Given the description of an element on the screen output the (x, y) to click on. 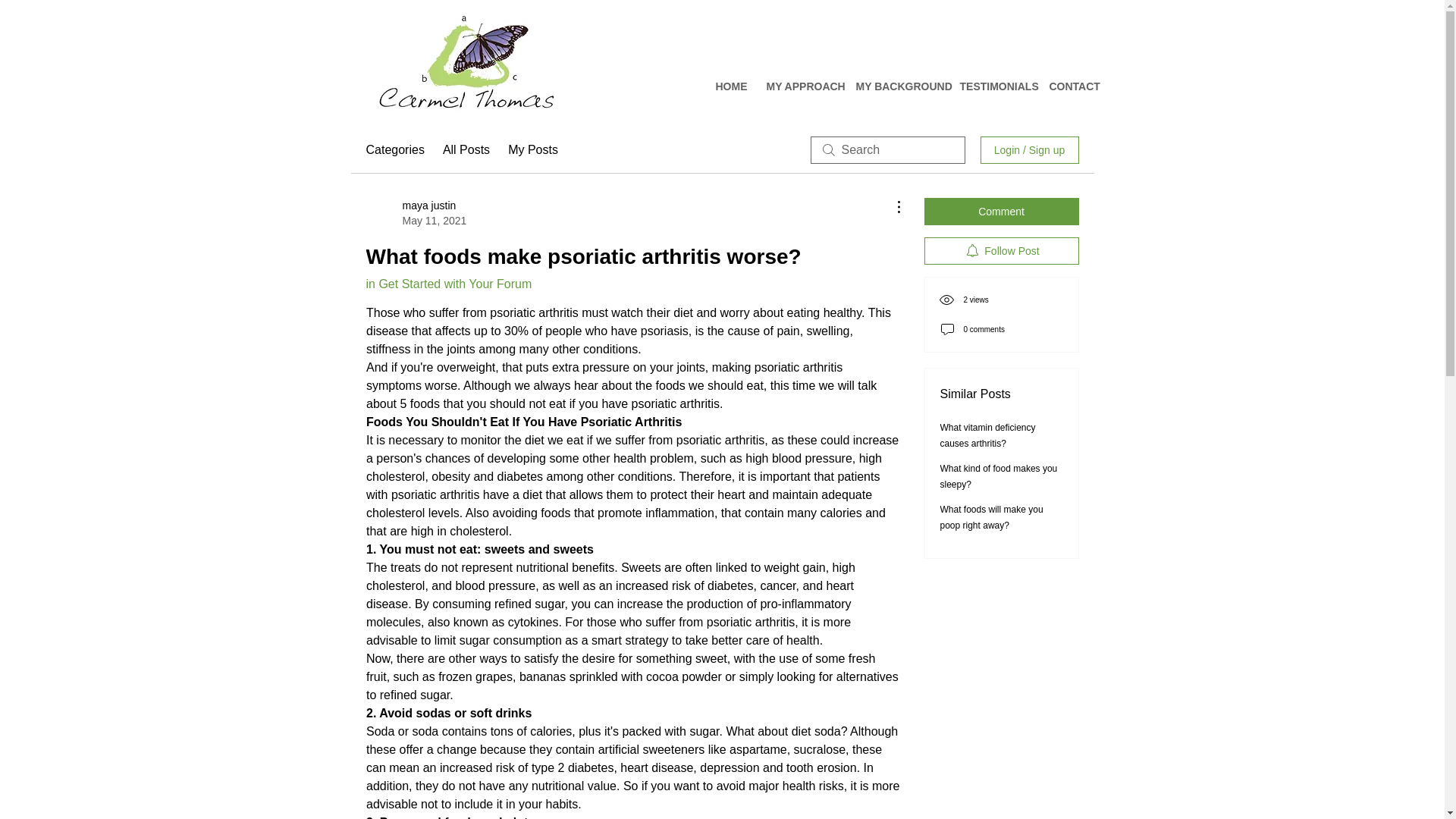
What vitamin deficiency causes arthritis? (987, 435)
My Posts (532, 149)
TESTIMONIALS (991, 86)
What foods will make you poop right away? (991, 517)
Categories (394, 149)
All Posts (465, 149)
Comment (1000, 211)
MY APPROACH (799, 86)
in Get Started with Your Forum (448, 283)
HOME (728, 86)
CONTACT (1068, 86)
MY BACKGROUND (896, 86)
What kind of food makes you sleepy? (999, 476)
Follow Post (1000, 250)
